Given the description of an element on the screen output the (x, y) to click on. 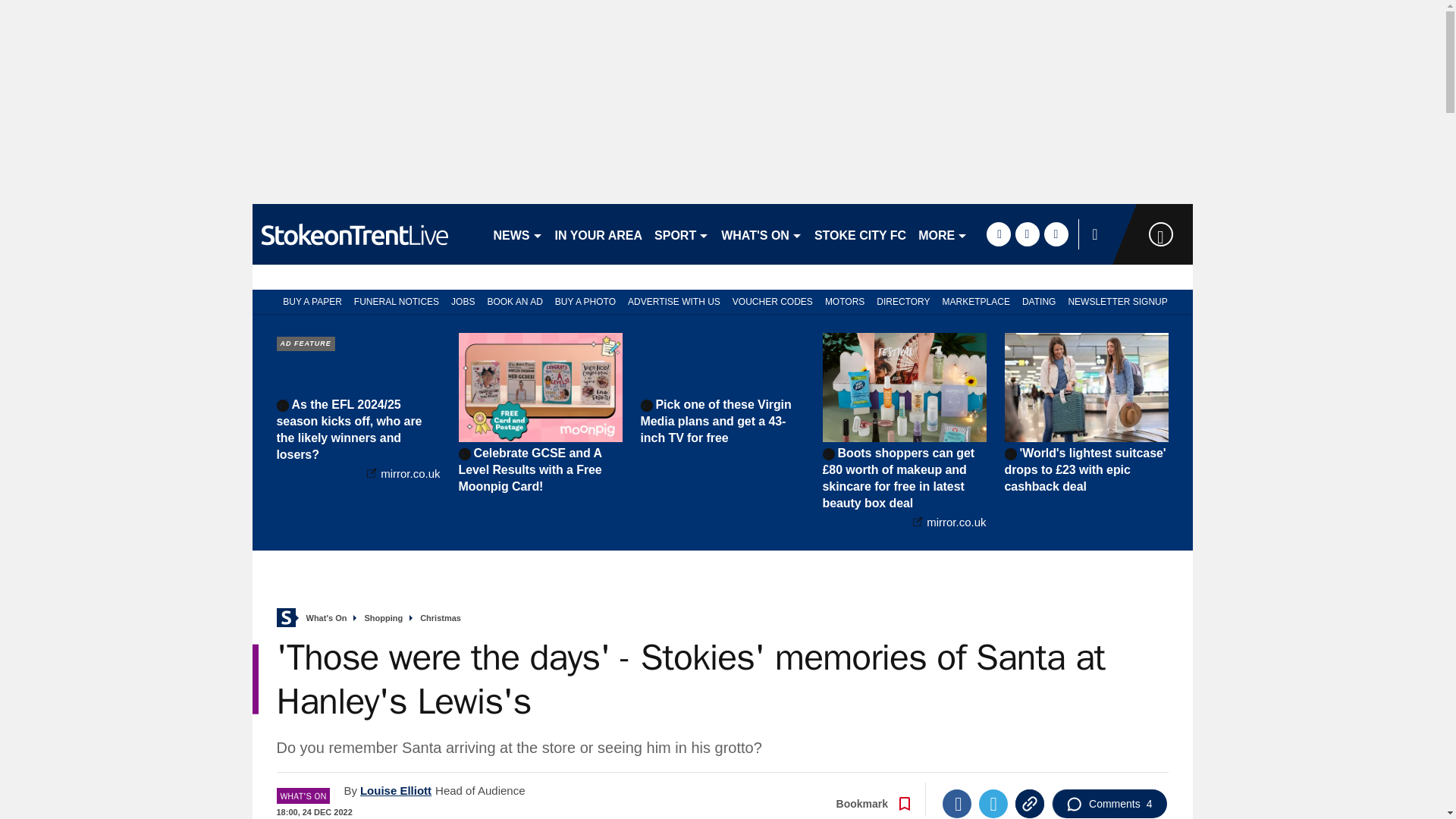
instagram (1055, 233)
twitter (1026, 233)
WHAT'S ON (761, 233)
SPORT (680, 233)
Comments (1108, 803)
Twitter (992, 803)
MORE (943, 233)
IN YOUR AREA (598, 233)
facebook (997, 233)
stokesentinel (365, 233)
